Given the description of an element on the screen output the (x, y) to click on. 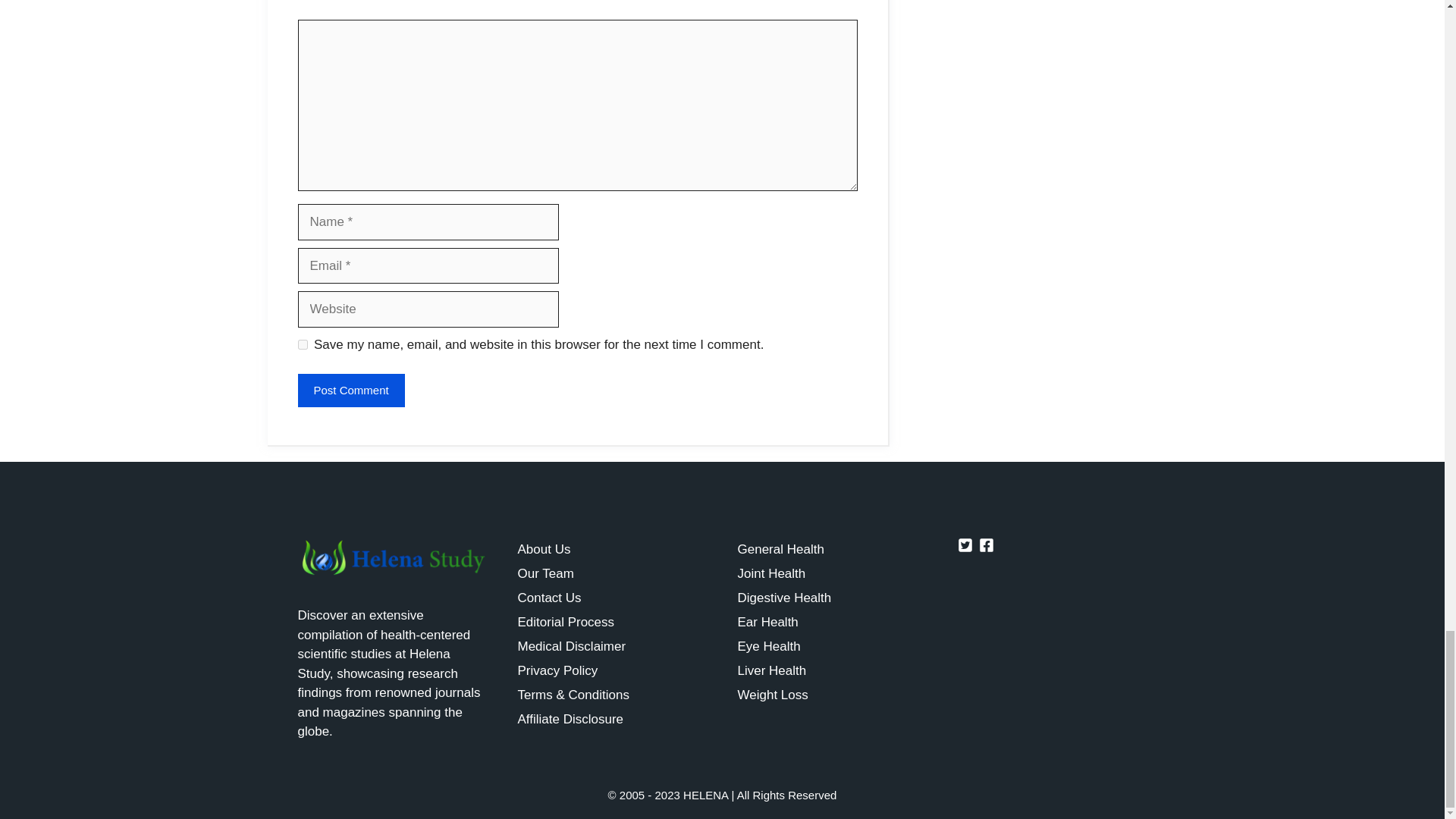
Post Comment (350, 390)
yes (302, 344)
